Given the description of an element on the screen output the (x, y) to click on. 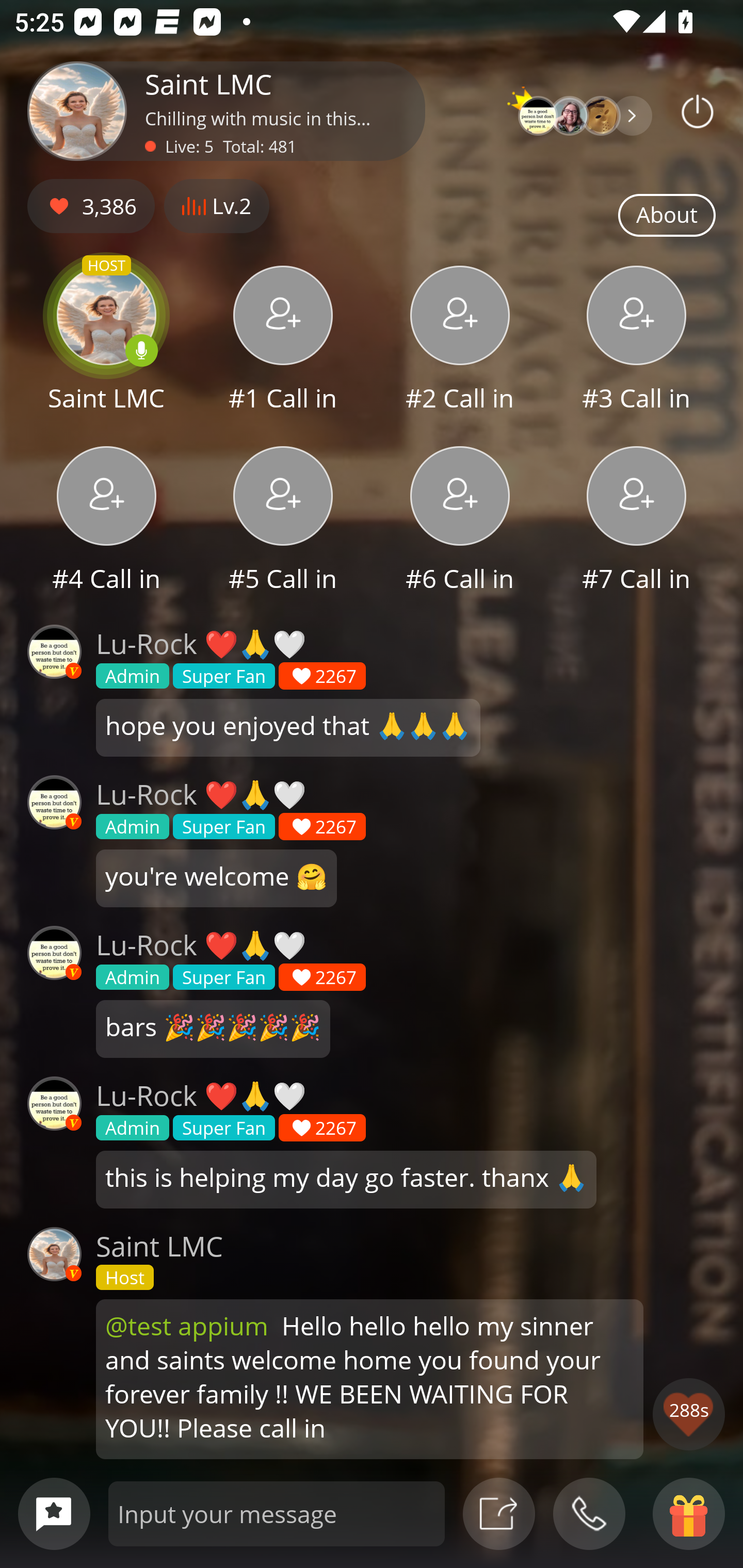
Podbean (697, 111)
About (666, 215)
HOST Saint LMC (105, 340)
#1 Call in (282, 340)
#2 Call in (459, 340)
#3 Call in (636, 340)
#4 Call in (105, 521)
#5 Call in (282, 521)
#6 Call in (459, 521)
#7 Call in (636, 521)
Input your message (276, 1513)
